Given the description of an element on the screen output the (x, y) to click on. 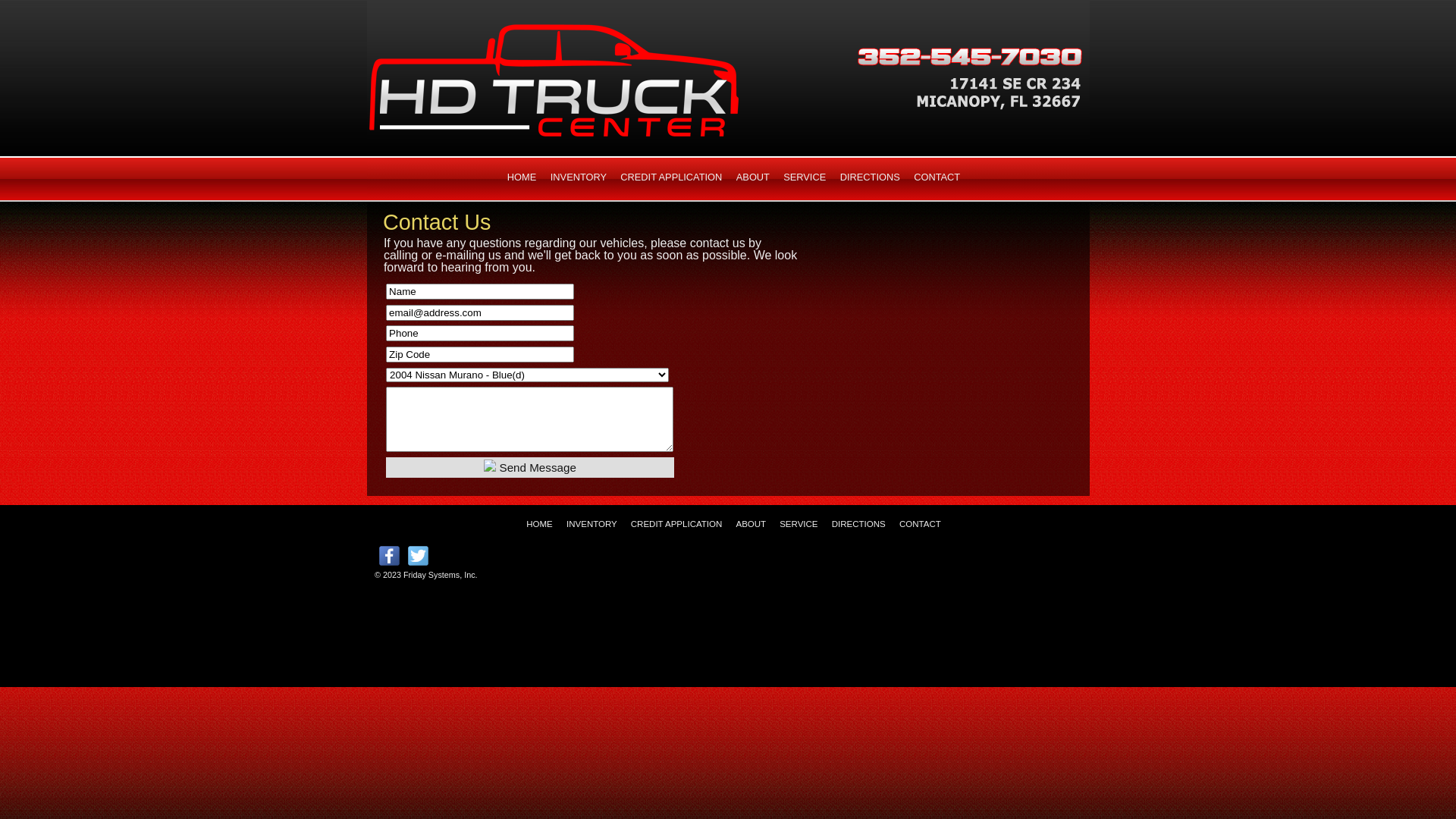
ABOUT Element type: text (752, 176)
CREDIT APPLICATION Element type: text (676, 523)
HOME Element type: text (539, 523)
INVENTORY Element type: text (591, 523)
CREDIT APPLICATION Element type: text (670, 176)
DIRECTIONS Element type: text (870, 176)
DIRECTIONS Element type: text (858, 523)
HOME Element type: text (521, 176)
INVENTORY Element type: text (578, 176)
CONTACT Element type: text (920, 523)
ABOUT Element type: text (750, 523)
SERVICE Element type: text (798, 523)
SERVICE Element type: text (804, 176)
CONTACT Element type: text (936, 176)
